Given the description of an element on the screen output the (x, y) to click on. 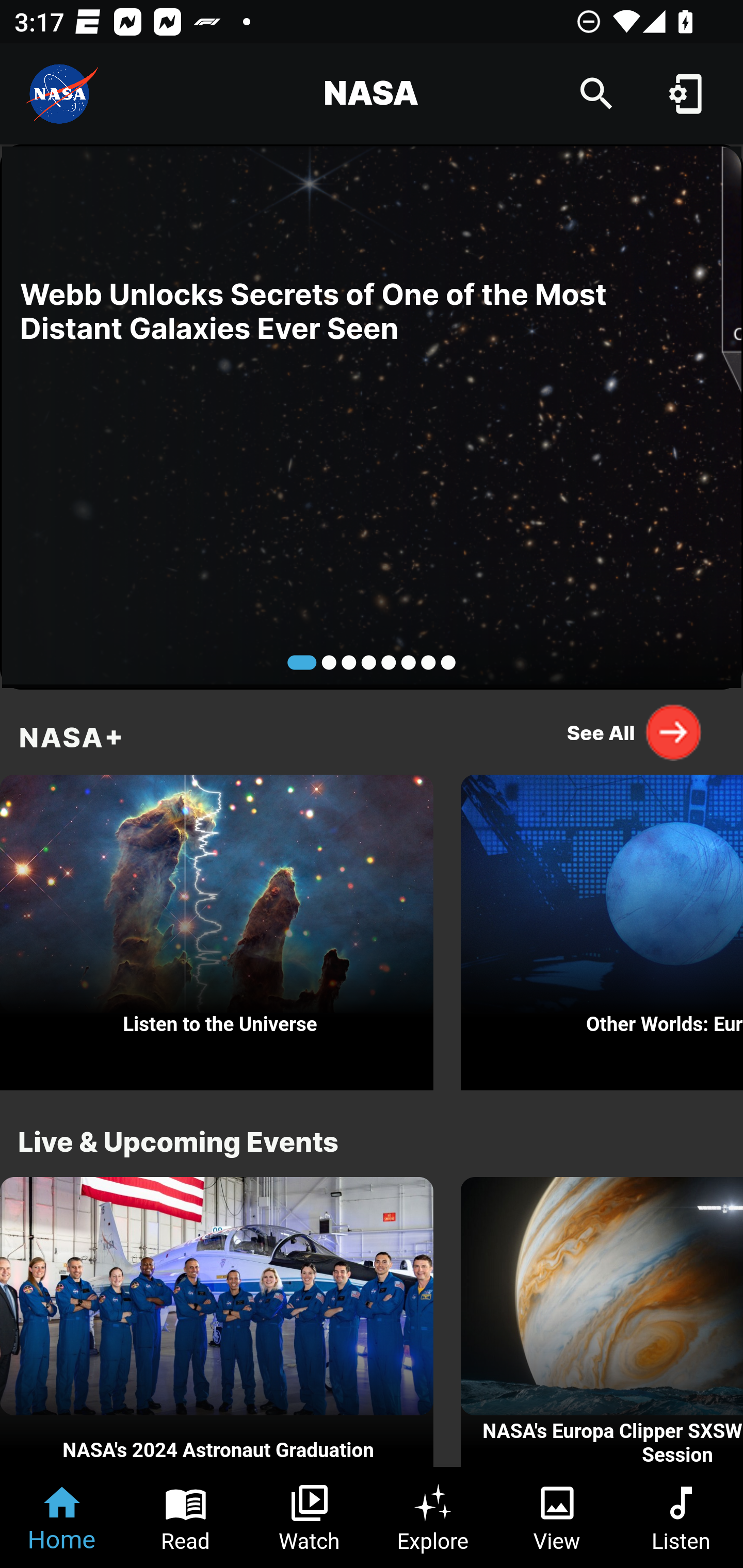
See All (634, 732)
Listen to the Universe (216, 927)
Other Worlds: Europa (601, 927)
NASA's 2024 Astronaut Graduation (216, 1322)
NASA's Europa Clipper SXSW 2024 Opening Session (601, 1322)
Home
Tab 1 of 6 (62, 1517)
Read
Tab 2 of 6 (185, 1517)
Watch
Tab 3 of 6 (309, 1517)
Explore
Tab 4 of 6 (433, 1517)
View
Tab 5 of 6 (556, 1517)
Listen
Tab 6 of 6 (680, 1517)
